Given the description of an element on the screen output the (x, y) to click on. 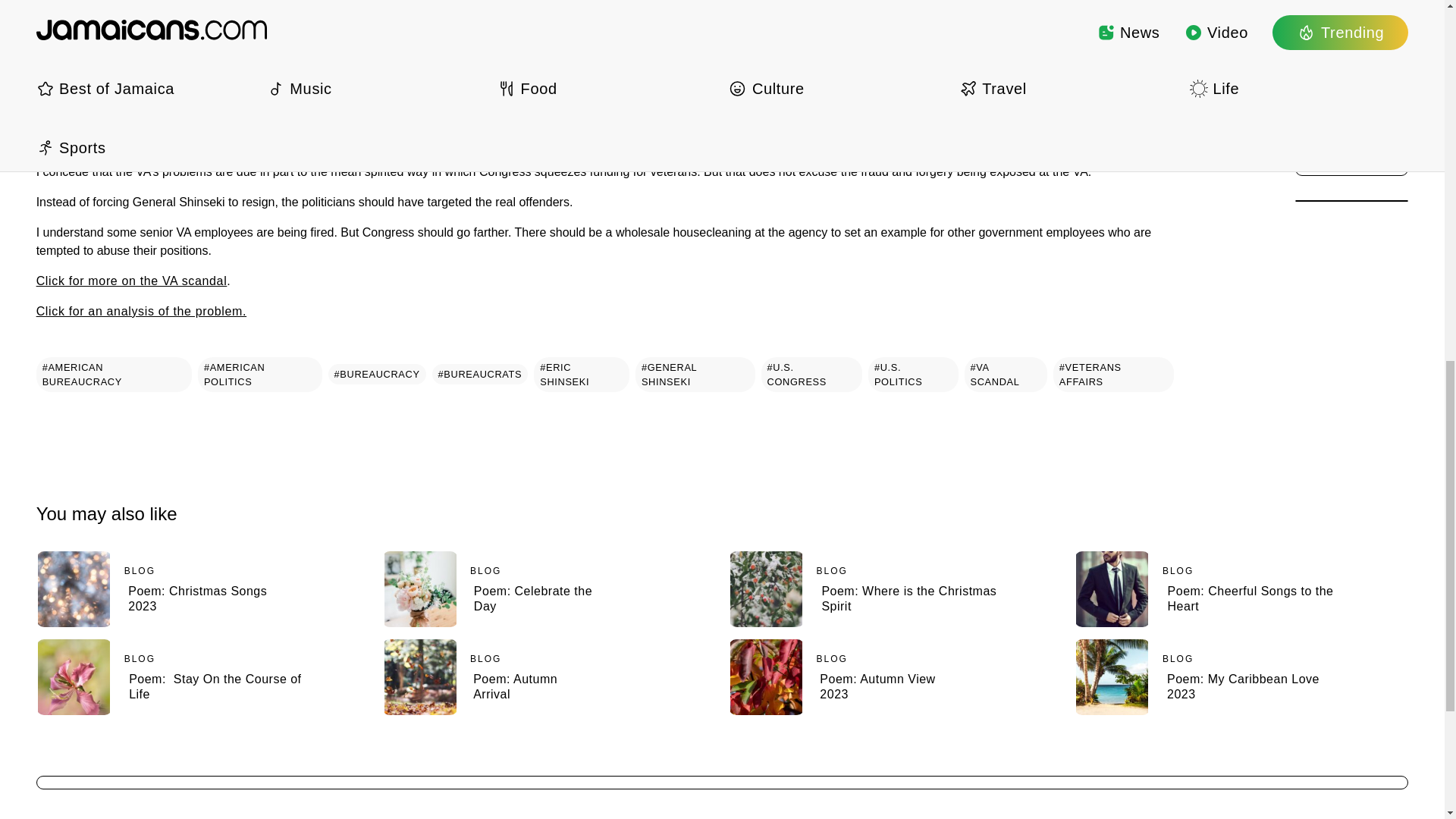
Click for an analysis of the problem. (141, 310)
Click for more on the VA scandal (131, 280)
